Given the description of an element on the screen output the (x, y) to click on. 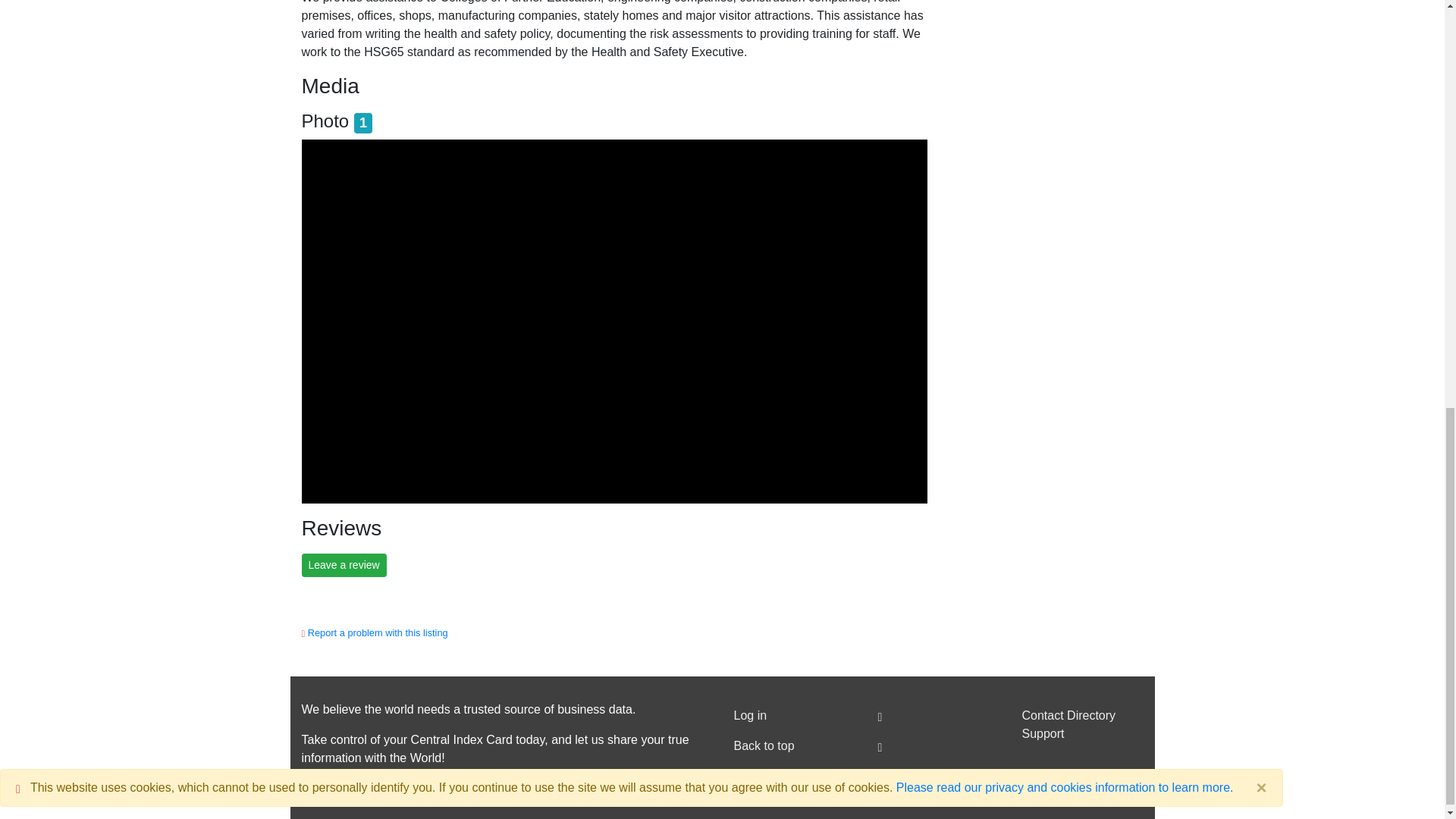
Report a problem with this listing (377, 632)
Back to top (794, 746)
Log in (794, 716)
Contact Directory Support (1082, 725)
Leave a review (344, 565)
Photo 1 (336, 120)
